Given the description of an element on the screen output the (x, y) to click on. 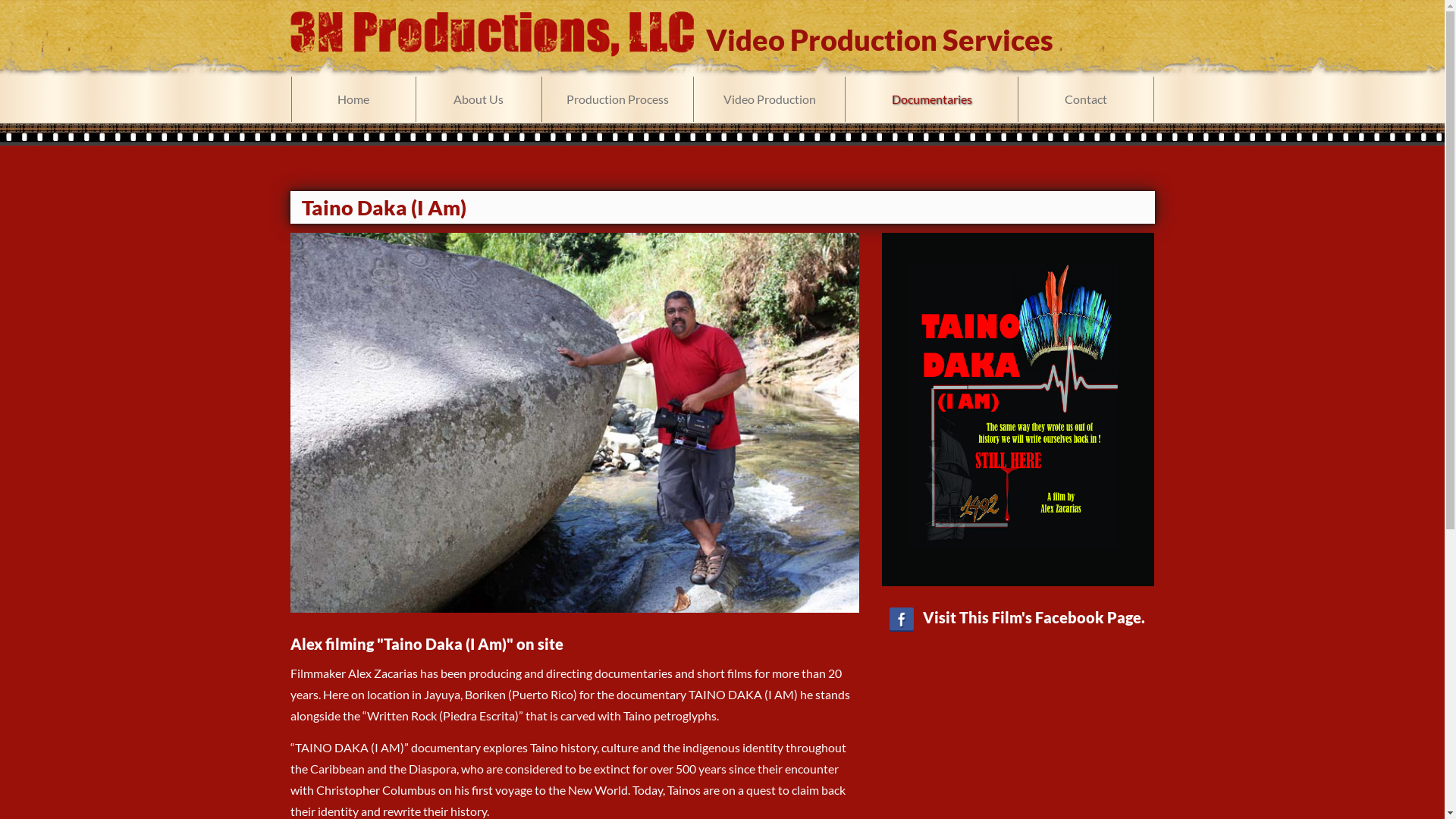
About Us Element type: text (478, 99)
Home Element type: text (352, 99)
Production Process Element type: text (617, 99)
Visit This Film's Facebook Page. Element type: text (1017, 429)
Documentaries Element type: text (931, 99)
Contact Element type: text (1085, 99)
Video Production Element type: text (768, 99)
